Given the description of an element on the screen output the (x, y) to click on. 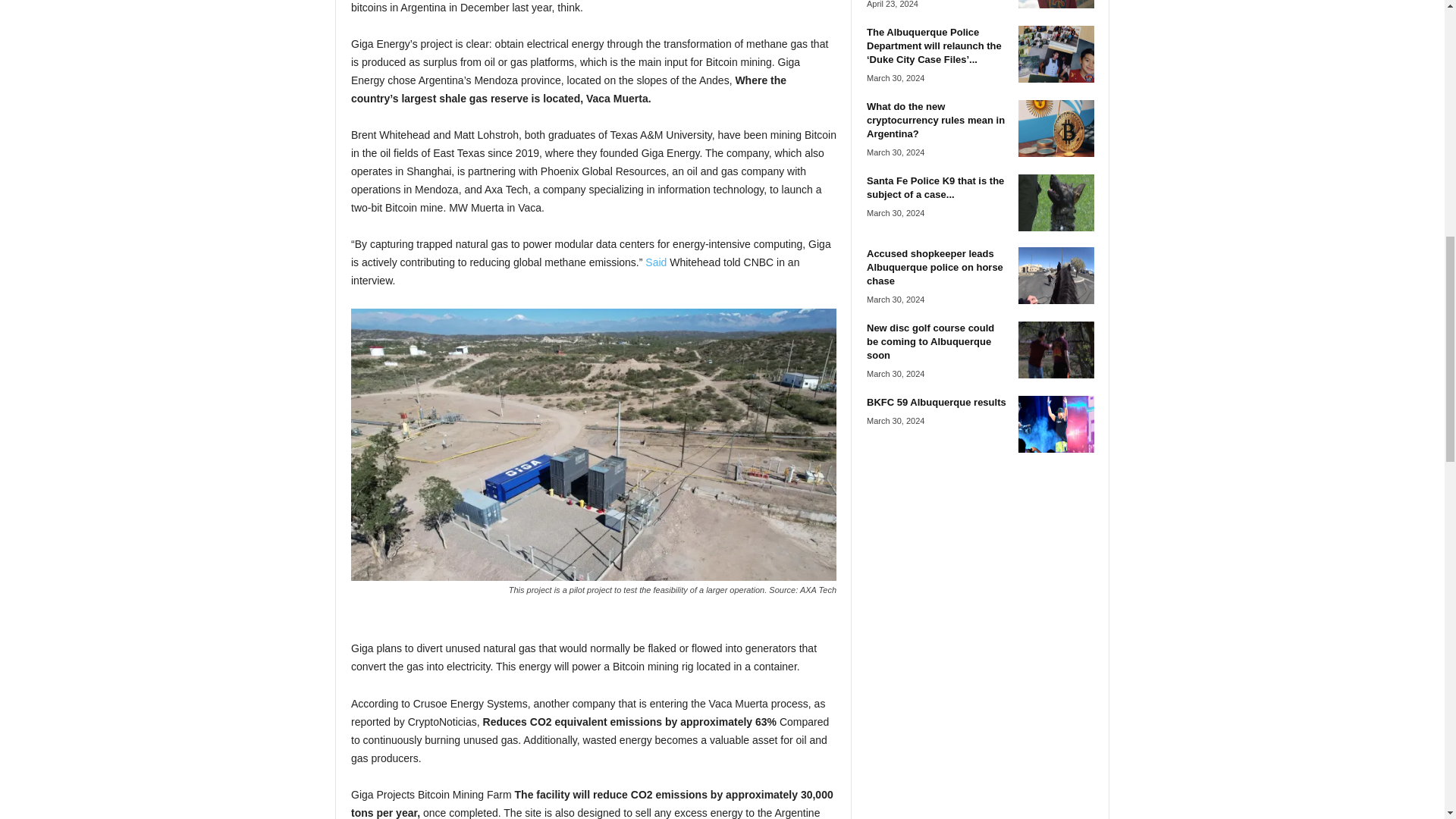
Said (657, 262)
